Given the description of an element on the screen output the (x, y) to click on. 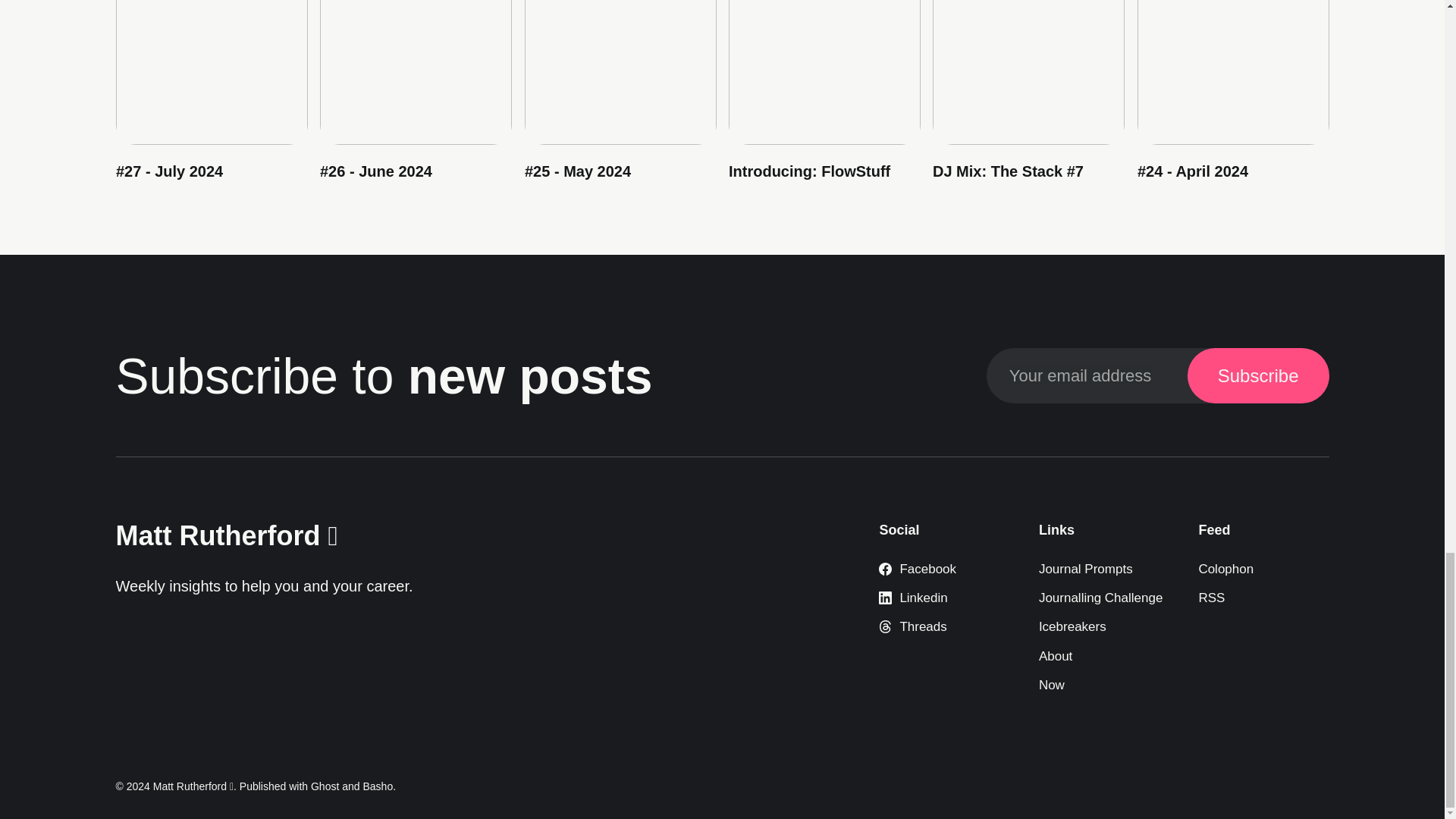
Colophon (1225, 568)
Journal Prompts (1085, 568)
Subscribe (1258, 375)
Threads (912, 626)
Journalling Challenge (1101, 597)
About (1055, 656)
Icebreakers (1072, 626)
RSS (1211, 597)
Facebook (917, 568)
Now (1051, 685)
